Given the description of an element on the screen output the (x, y) to click on. 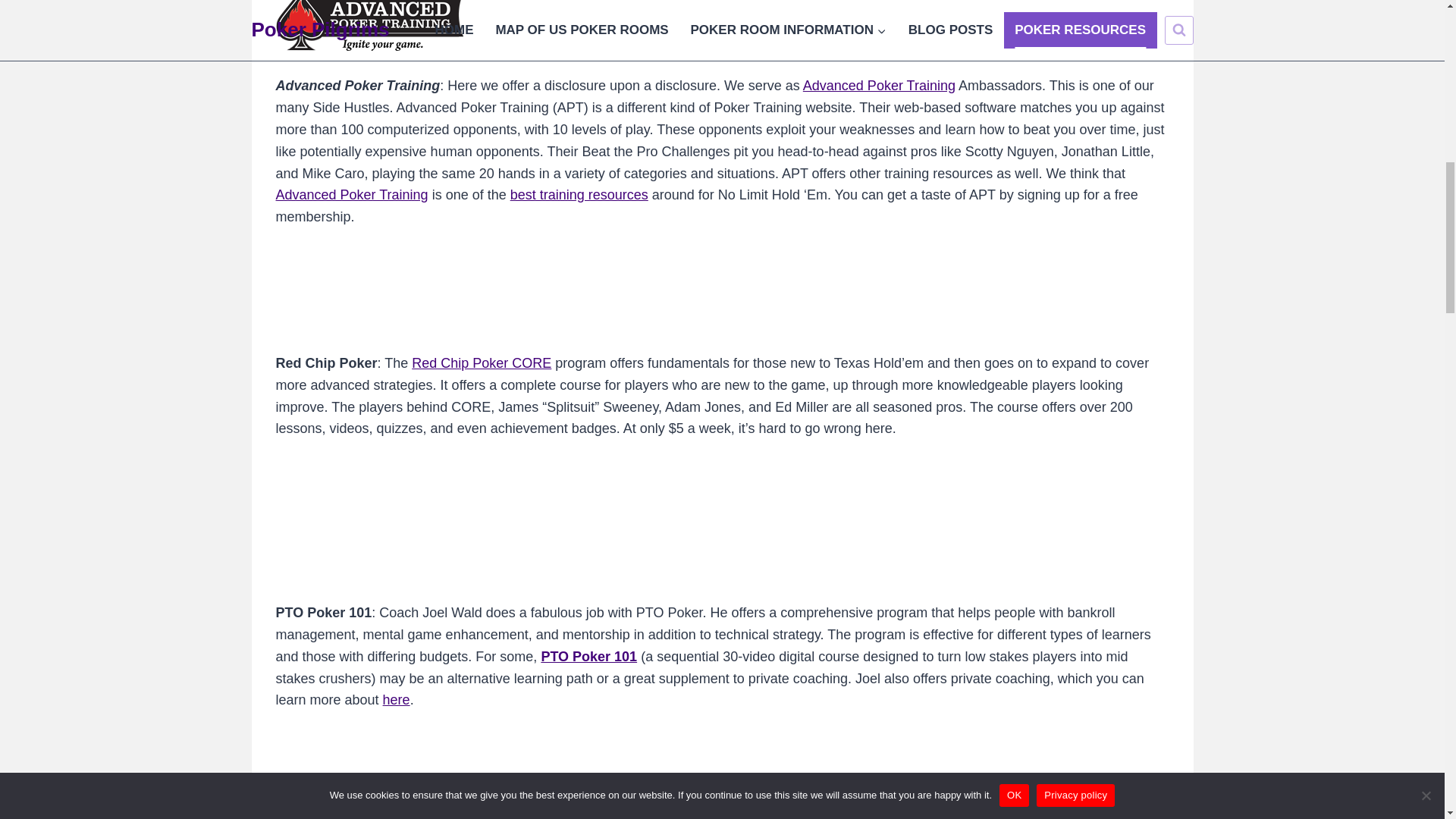
Red Chip Poker CORE (481, 363)
best training resources (579, 194)
here (396, 699)
Advanced Poker Training (352, 194)
Advanced Poker Training (879, 85)
PTO Poker 101 (588, 656)
